Given the description of an element on the screen output the (x, y) to click on. 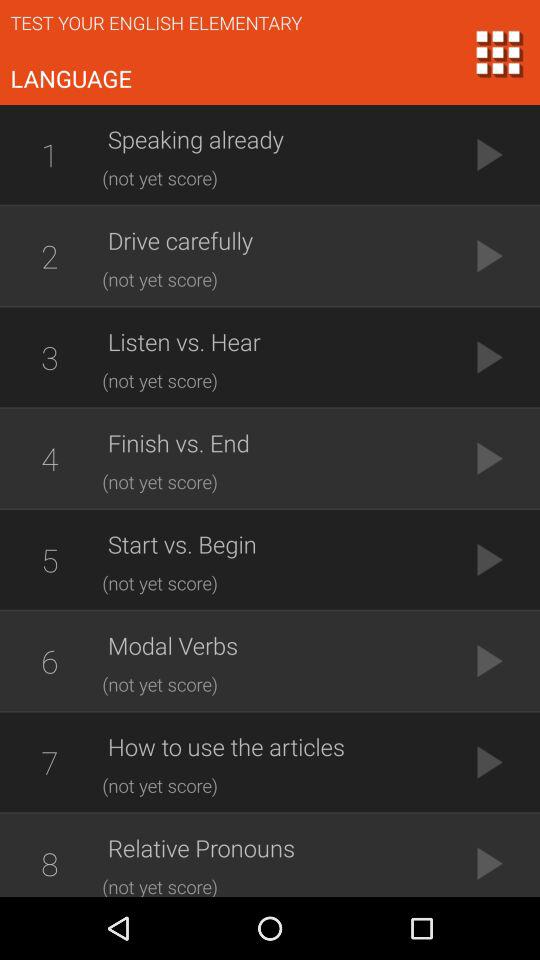
jump to 2 item (49, 256)
